Given the description of an element on the screen output the (x, y) to click on. 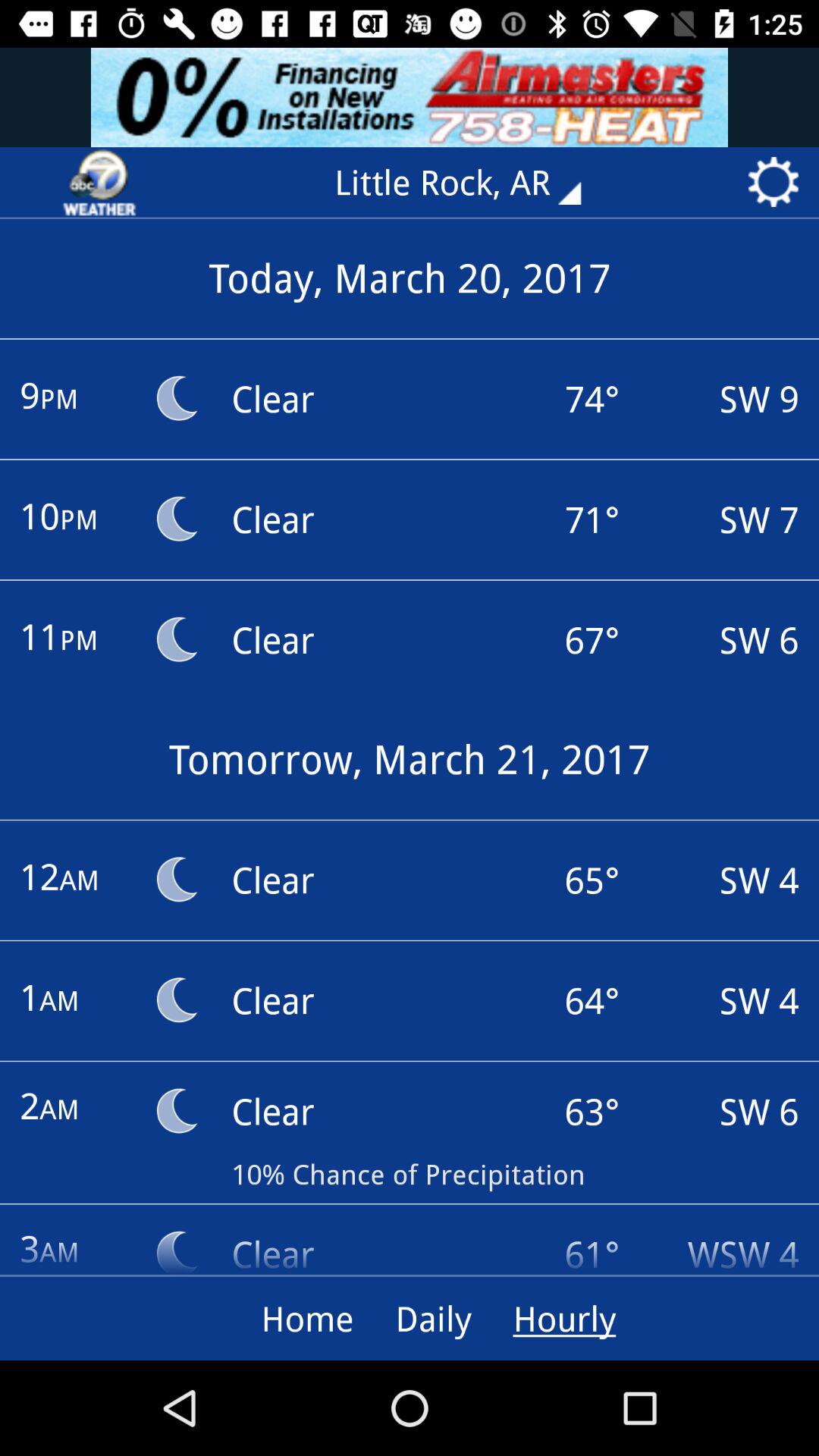
access advertisement (409, 97)
